Given the description of an element on the screen output the (x, y) to click on. 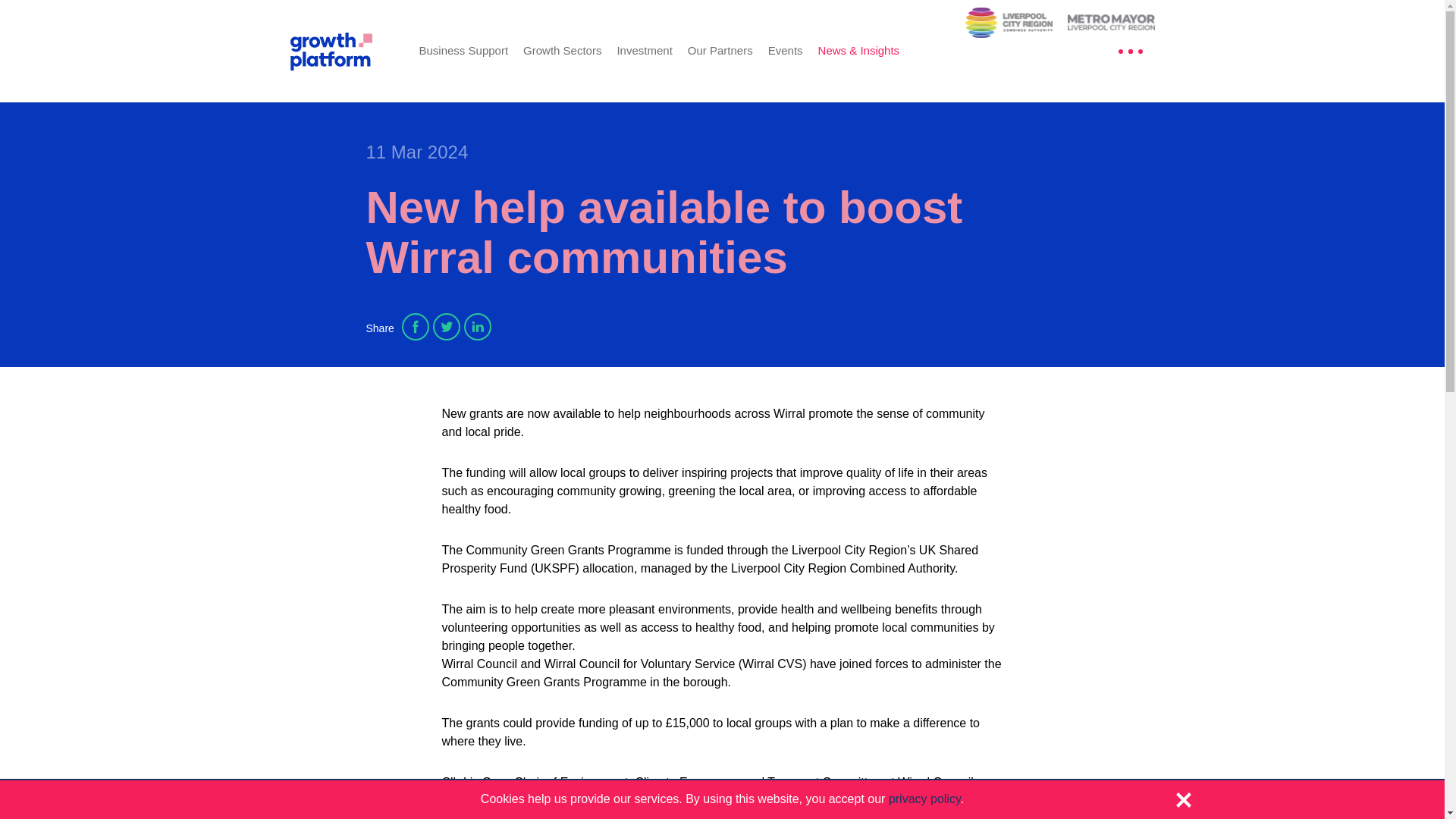
Growth Sectors (561, 50)
Investment (643, 50)
Go to Growth Platform homepage (342, 50)
Our Partners (719, 50)
Business Support (463, 50)
